Given the description of an element on the screen output the (x, y) to click on. 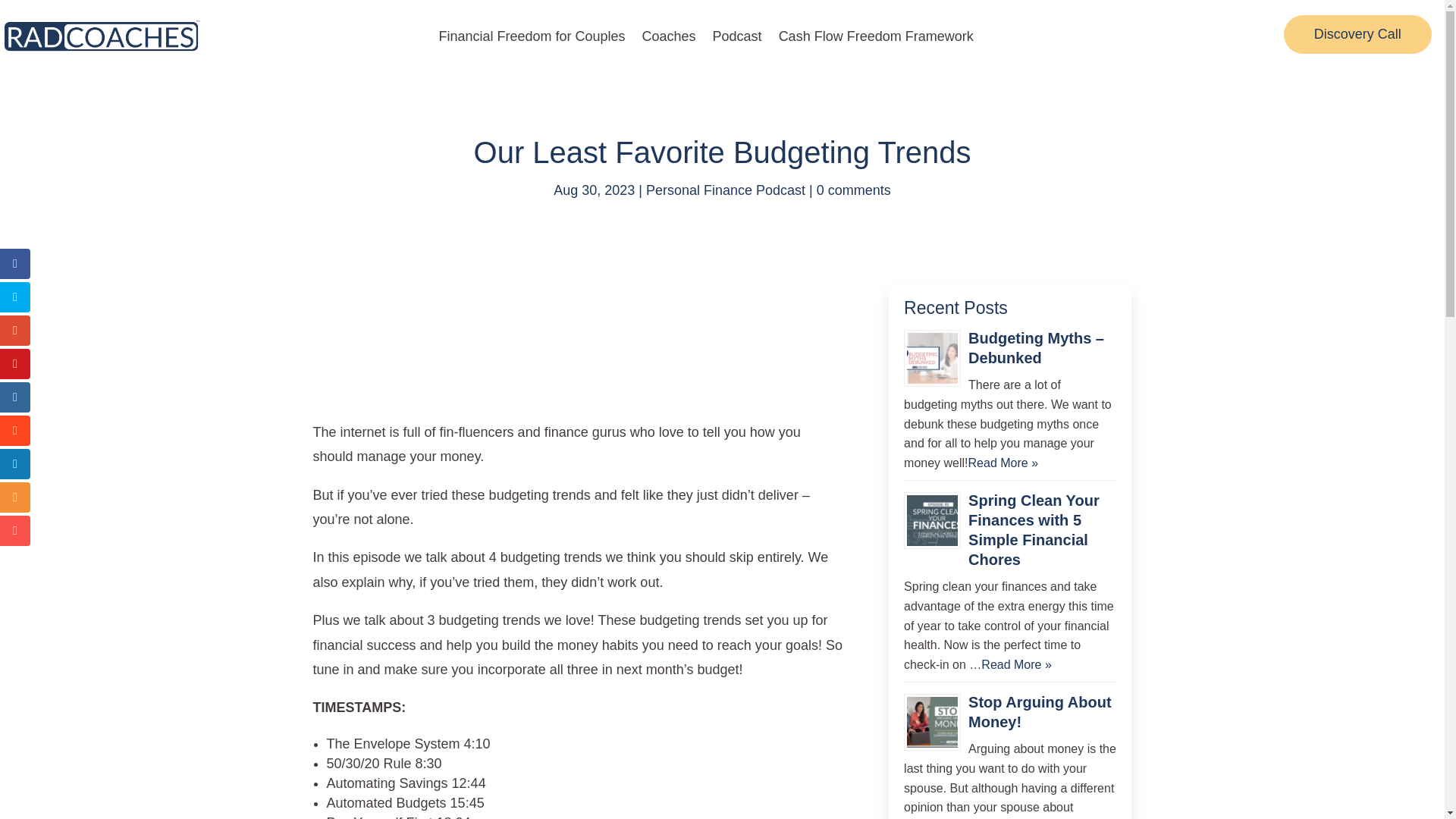
0 comments (853, 190)
Discovery Call (1357, 34)
Spring Clean Your Finances with 5 Simple Financial Chores (1033, 530)
Stop Arguing About Money! (1039, 711)
Cash Flow Freedom Framework (876, 36)
Financial Freedom for Couples (531, 36)
Personal Finance Podcast (725, 190)
Coaches (668, 36)
Podcast (737, 36)
